Given the description of an element on the screen output the (x, y) to click on. 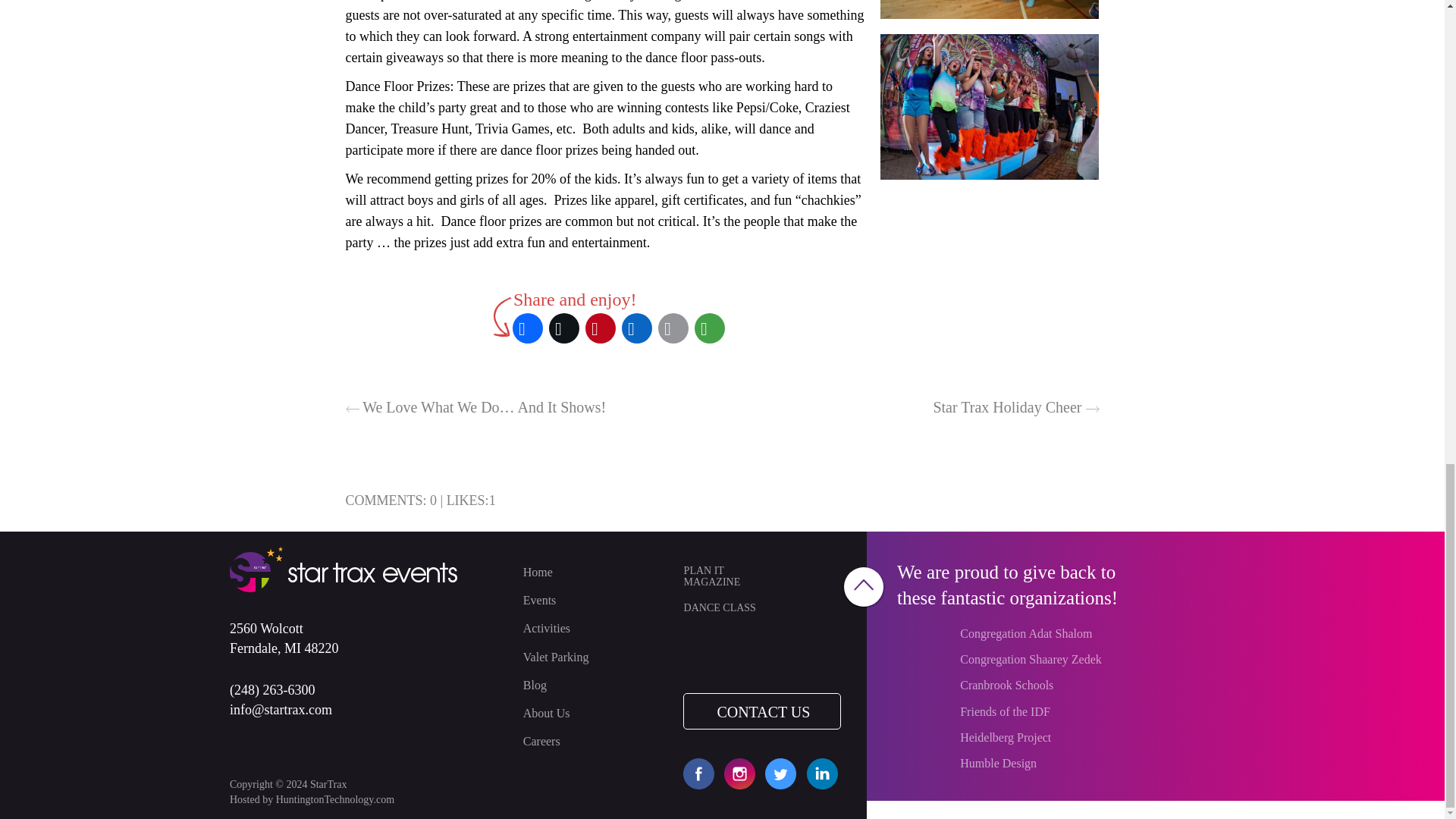
Pinterest (600, 328)
LinkedIn (636, 328)
Facebook (527, 328)
More Options (709, 328)
Email This (673, 328)
